Given the description of an element on the screen output the (x, y) to click on. 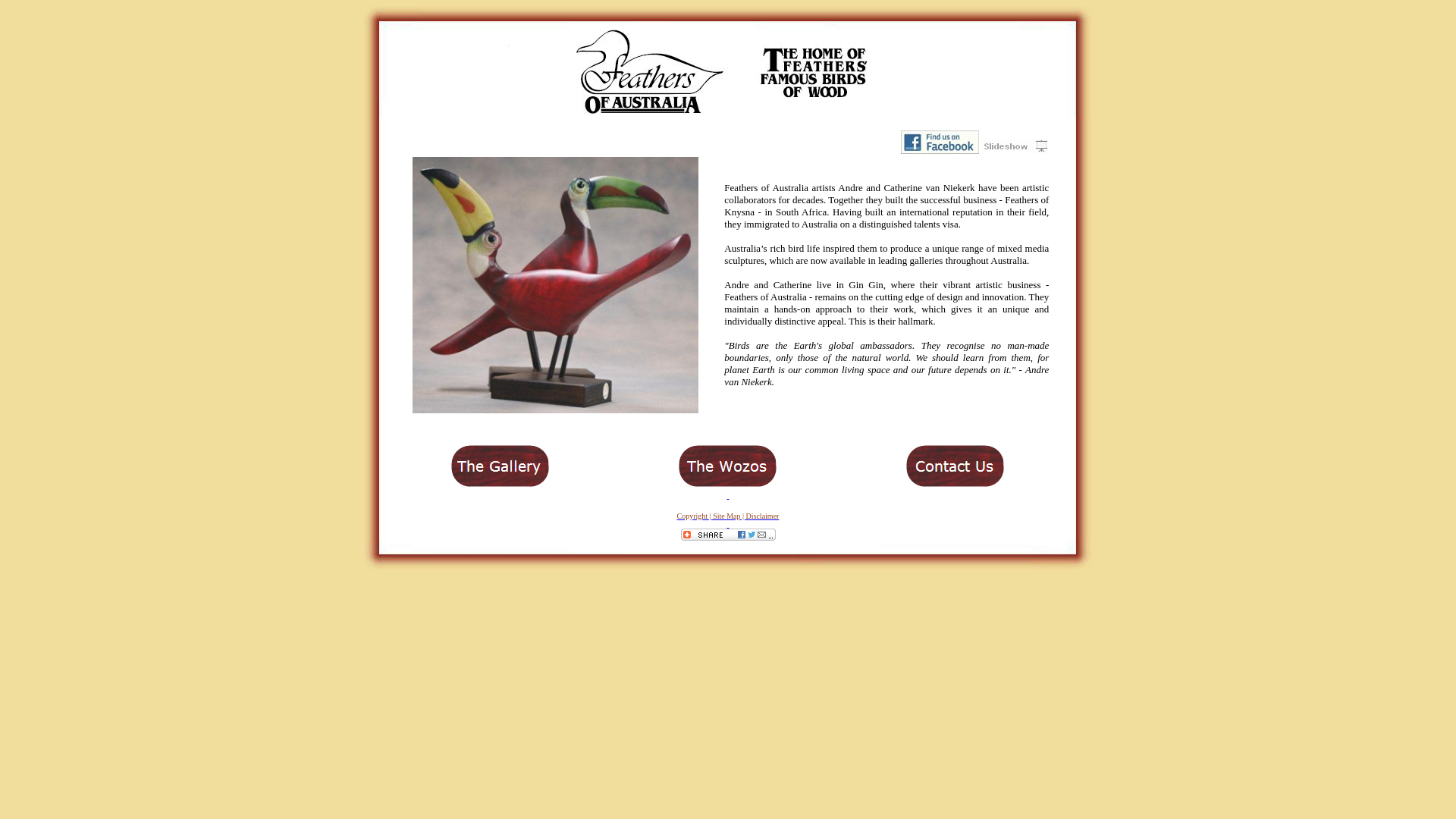
Feathers of Australia Element type: hover (555, 408)
Copyright | Site Map | Disclaimer
/ Element type: text (728, 518)
/ Element type: text (728, 493)
